Given the description of an element on the screen output the (x, y) to click on. 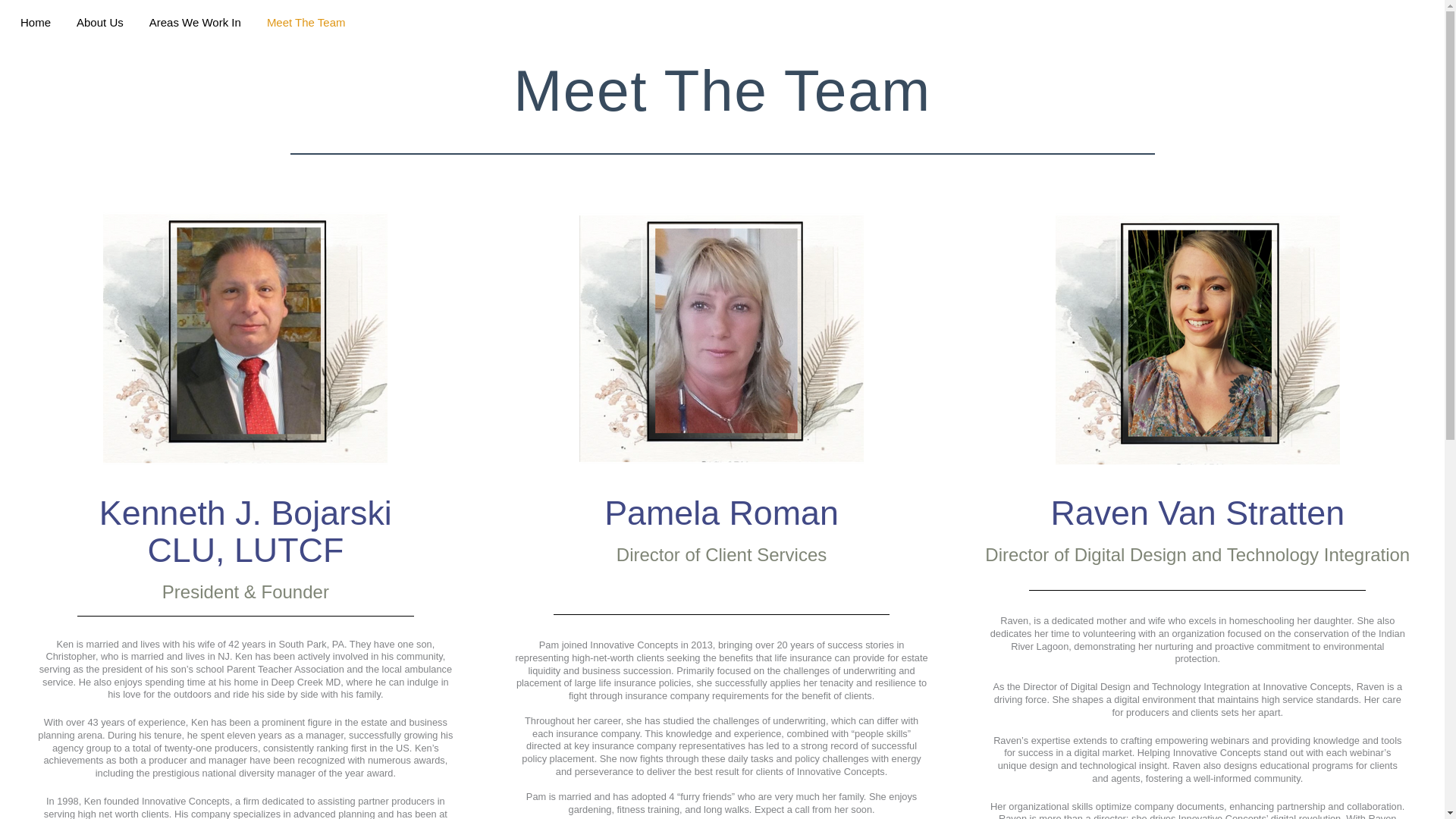
Meet The Team (305, 22)
About Us (535, 18)
Home (100, 22)
Skip to content (35, 22)
